Given the description of an element on the screen output the (x, y) to click on. 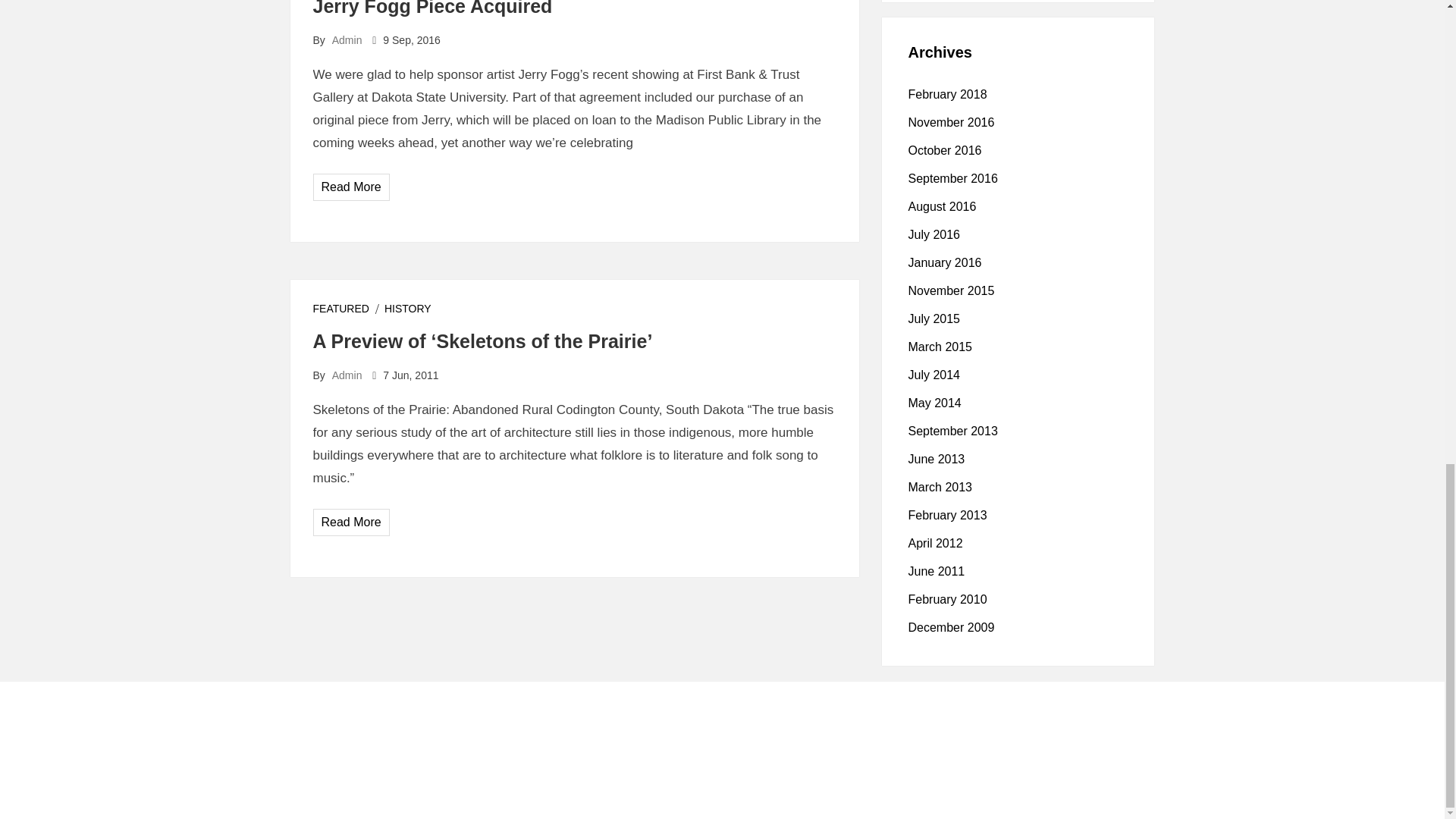
Admin (346, 375)
Read More (351, 186)
Read More (351, 521)
HISTORY (407, 308)
FEATURED (340, 308)
Jerry Fogg Piece Acquired (432, 8)
Admin (346, 39)
